Given the description of an element on the screen output the (x, y) to click on. 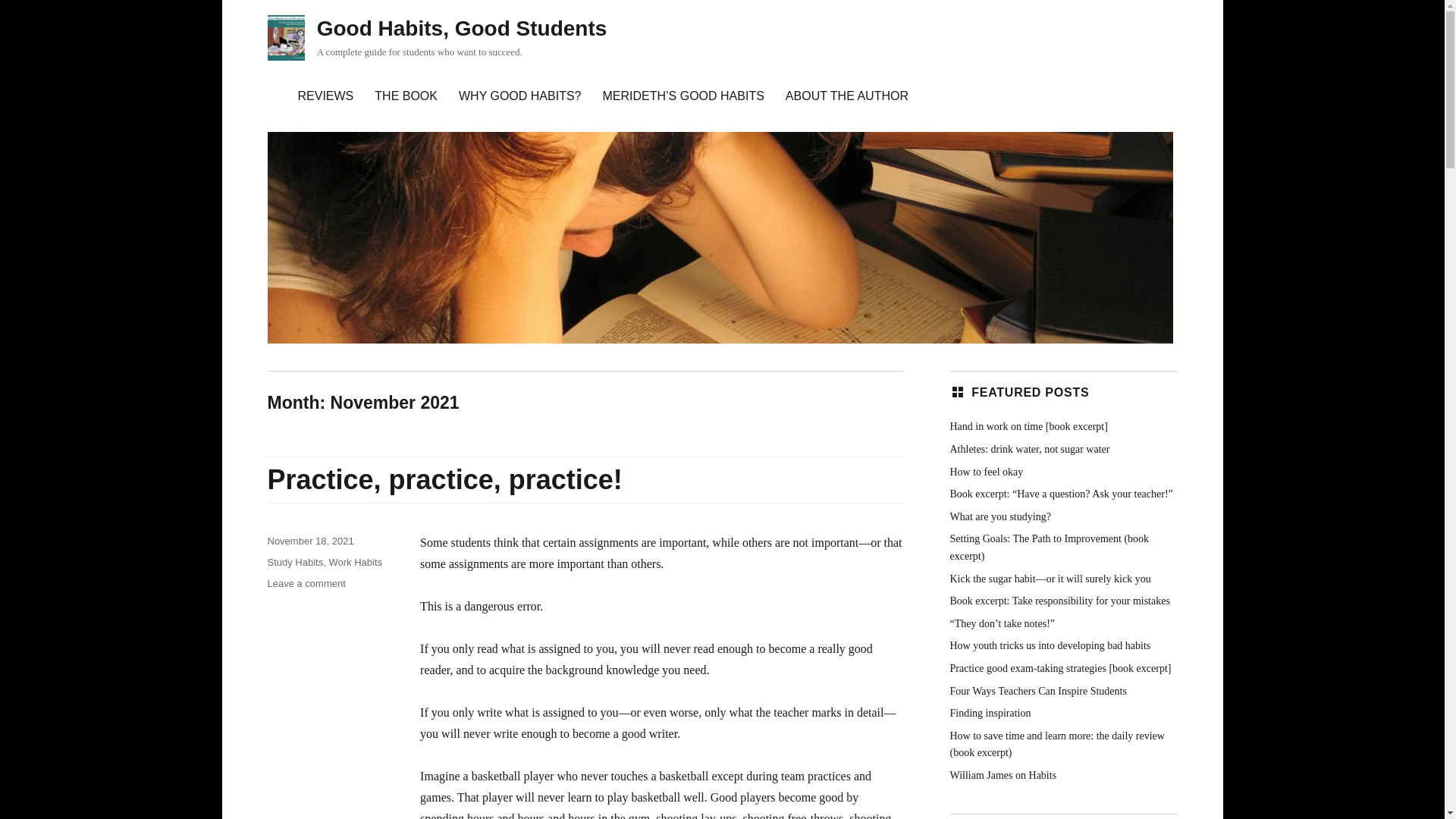
Four Ways Teachers Can Inspire Students (1037, 690)
ABOUT THE AUTHOR (846, 96)
Study Habits (294, 562)
William James on Habits (1003, 775)
Work Habits (355, 562)
Practice, practice, practice! (443, 479)
What are you studying? (999, 516)
Book excerpt: Take responsibility for your mistakes (1059, 600)
How to feel okay (986, 471)
Good Habits, Good Students (462, 28)
